Given the description of an element on the screen output the (x, y) to click on. 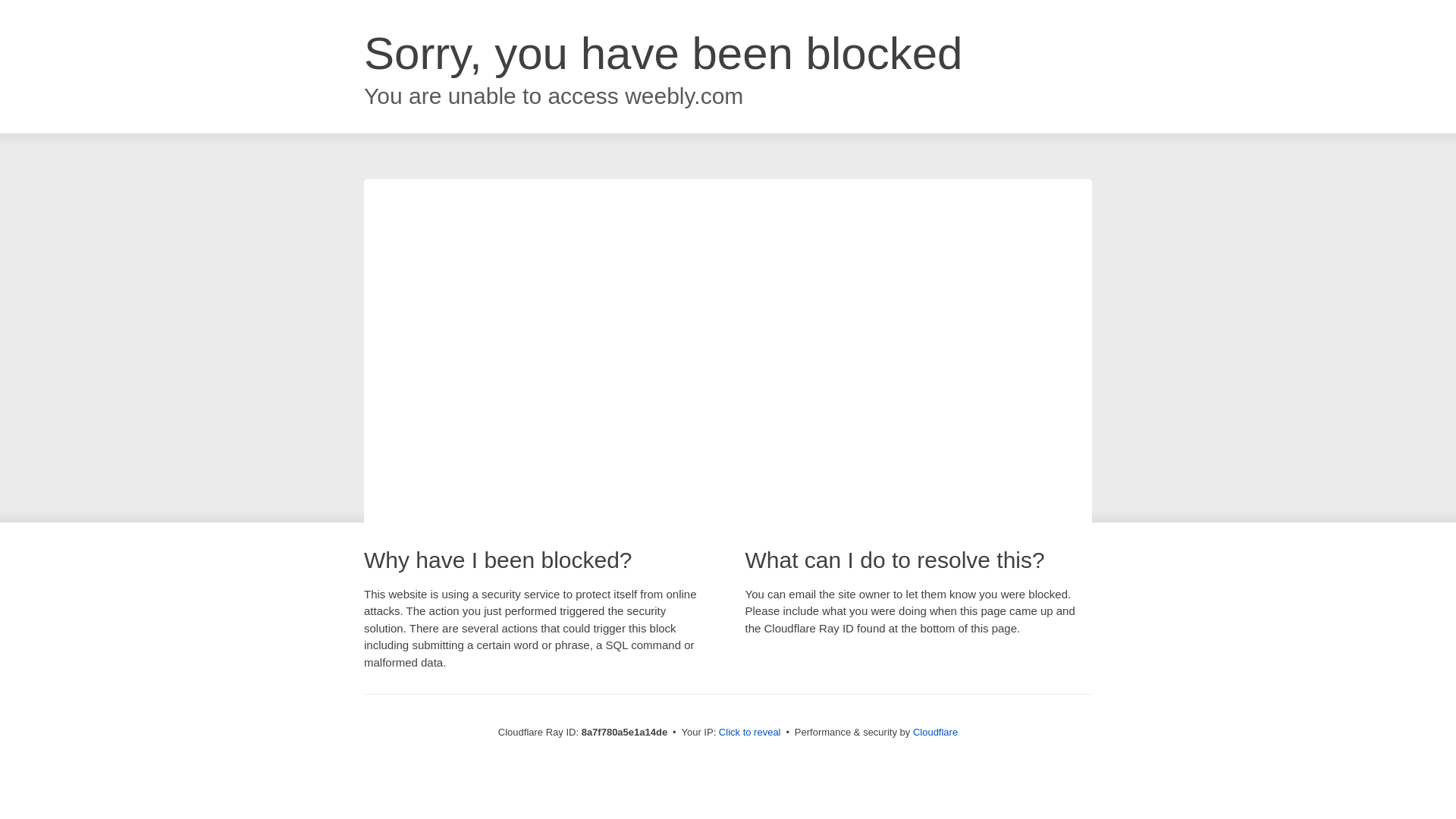
Cloudflare (935, 731)
Click to reveal (749, 732)
